Given the description of an element on the screen output the (x, y) to click on. 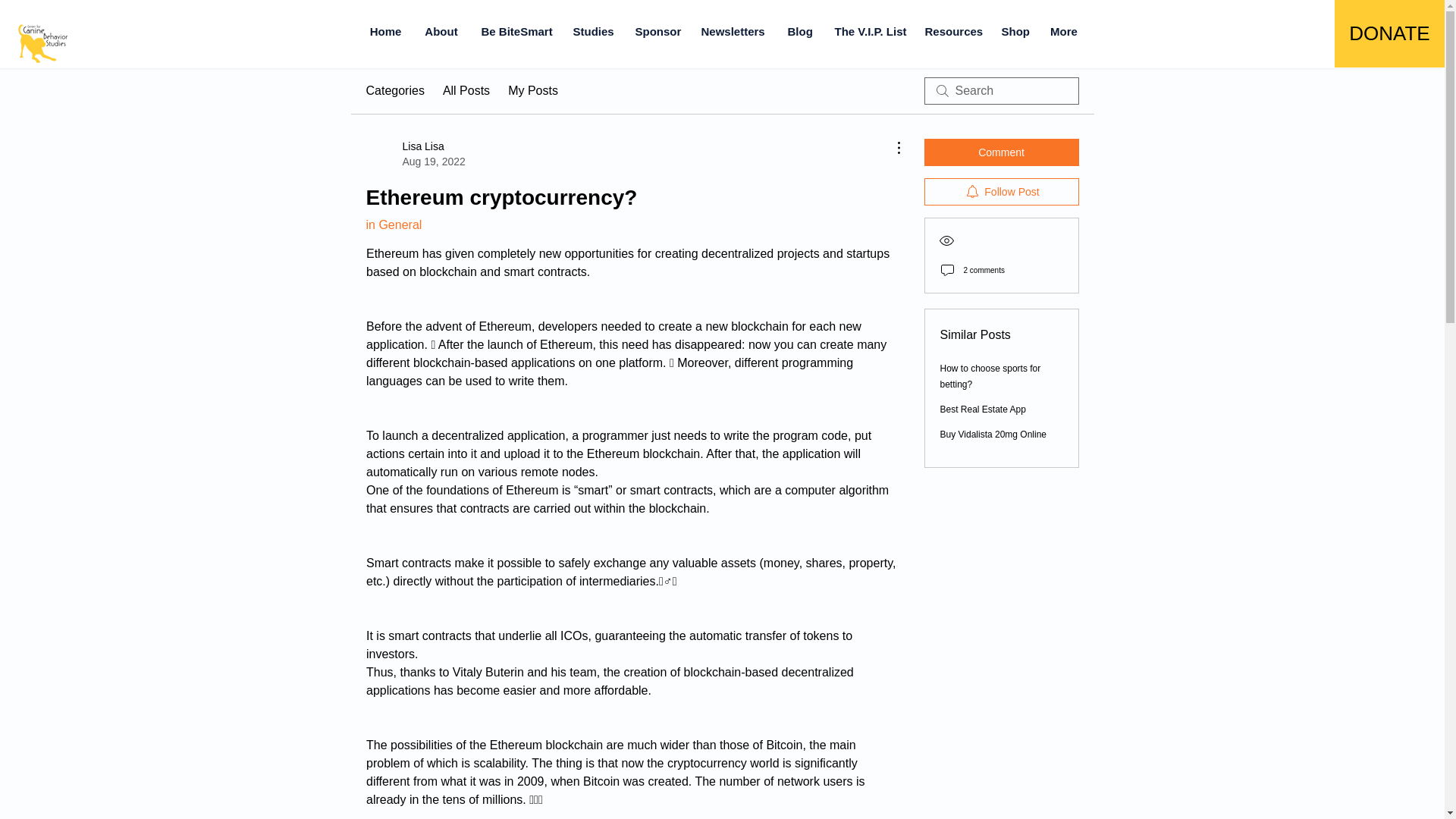
Newsletters (733, 31)
Home (385, 31)
in General (393, 224)
Resources (951, 31)
Sponsor (655, 31)
My Posts (532, 90)
Be BiteSmart (516, 31)
Studies (591, 31)
All Posts (465, 90)
Shop (1014, 31)
Categories (394, 90)
Blog (800, 31)
The V.I.P. List (869, 31)
About (414, 153)
